Given the description of an element on the screen output the (x, y) to click on. 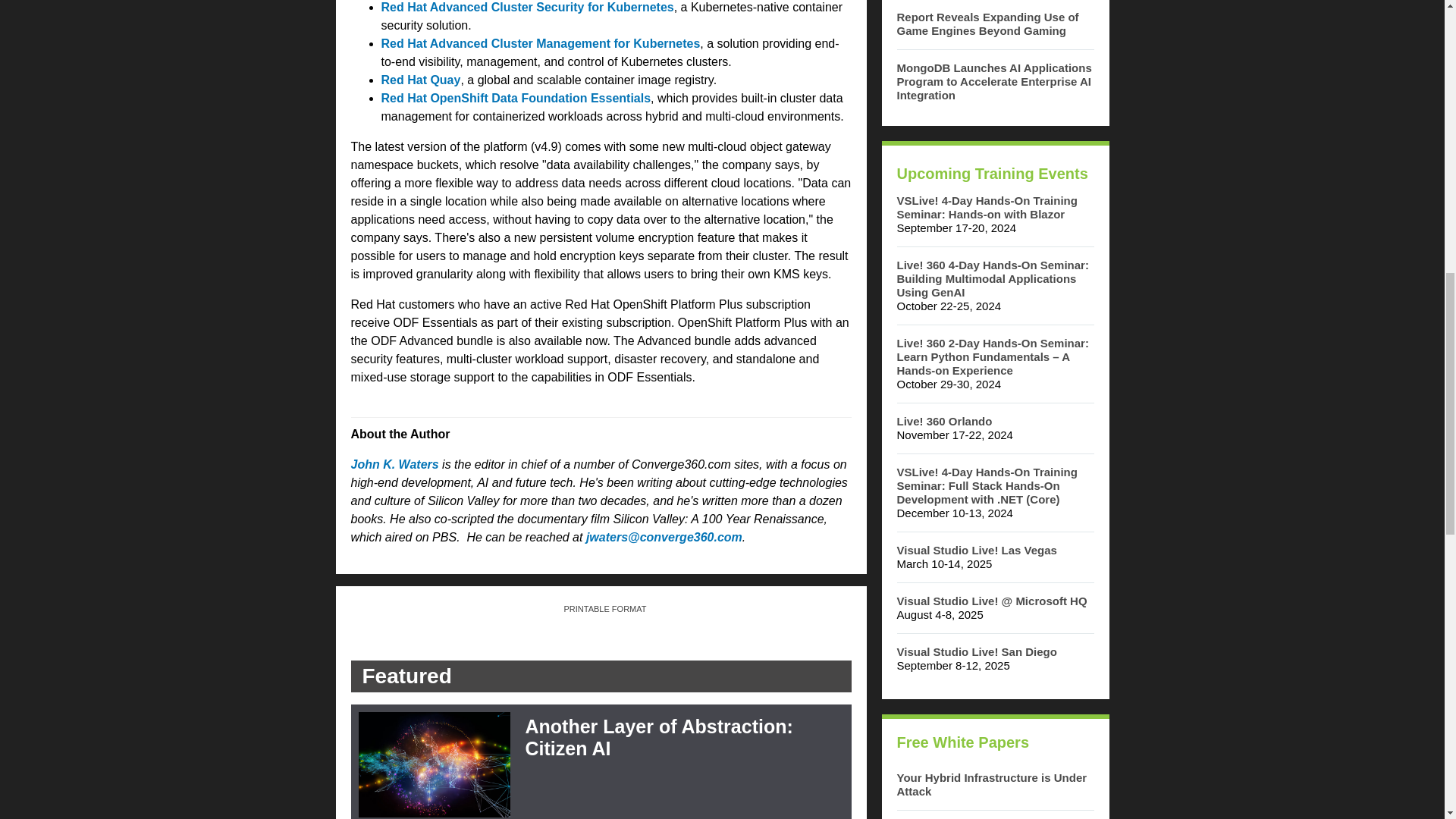
Red Hat Quay (420, 79)
Red Hat Advanced Cluster Management for Kubernetes (540, 42)
Red Hat Advanced Cluster Security for Kubernetes (526, 6)
Red Hat OpenShift Data Foundation Essentials (515, 97)
